Given the description of an element on the screen output the (x, y) to click on. 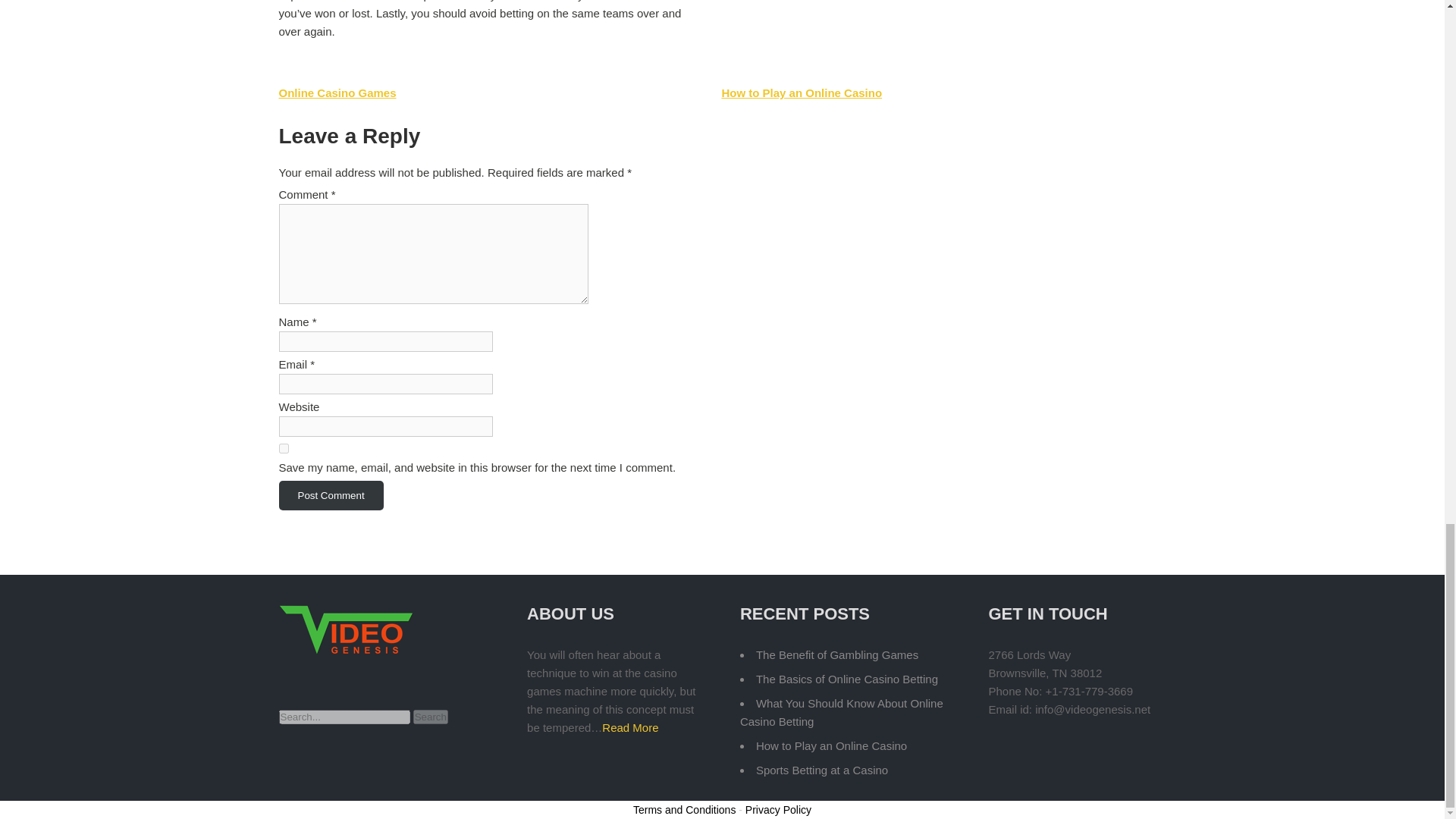
yes (283, 448)
Terms and Conditions (684, 809)
Post Comment (331, 495)
How to Play an Online Casino (801, 92)
How to Play an Online Casino (831, 745)
The Benefit of Gambling Games (836, 654)
Search (430, 716)
Post Comment (331, 495)
The Basics of Online Casino Betting (846, 678)
Search (430, 716)
Sports Betting at a Casino (821, 769)
Read More (630, 727)
Privacy Policy (777, 809)
What You Should Know About Online Casino Betting (841, 712)
Search (430, 716)
